Given the description of an element on the screen output the (x, y) to click on. 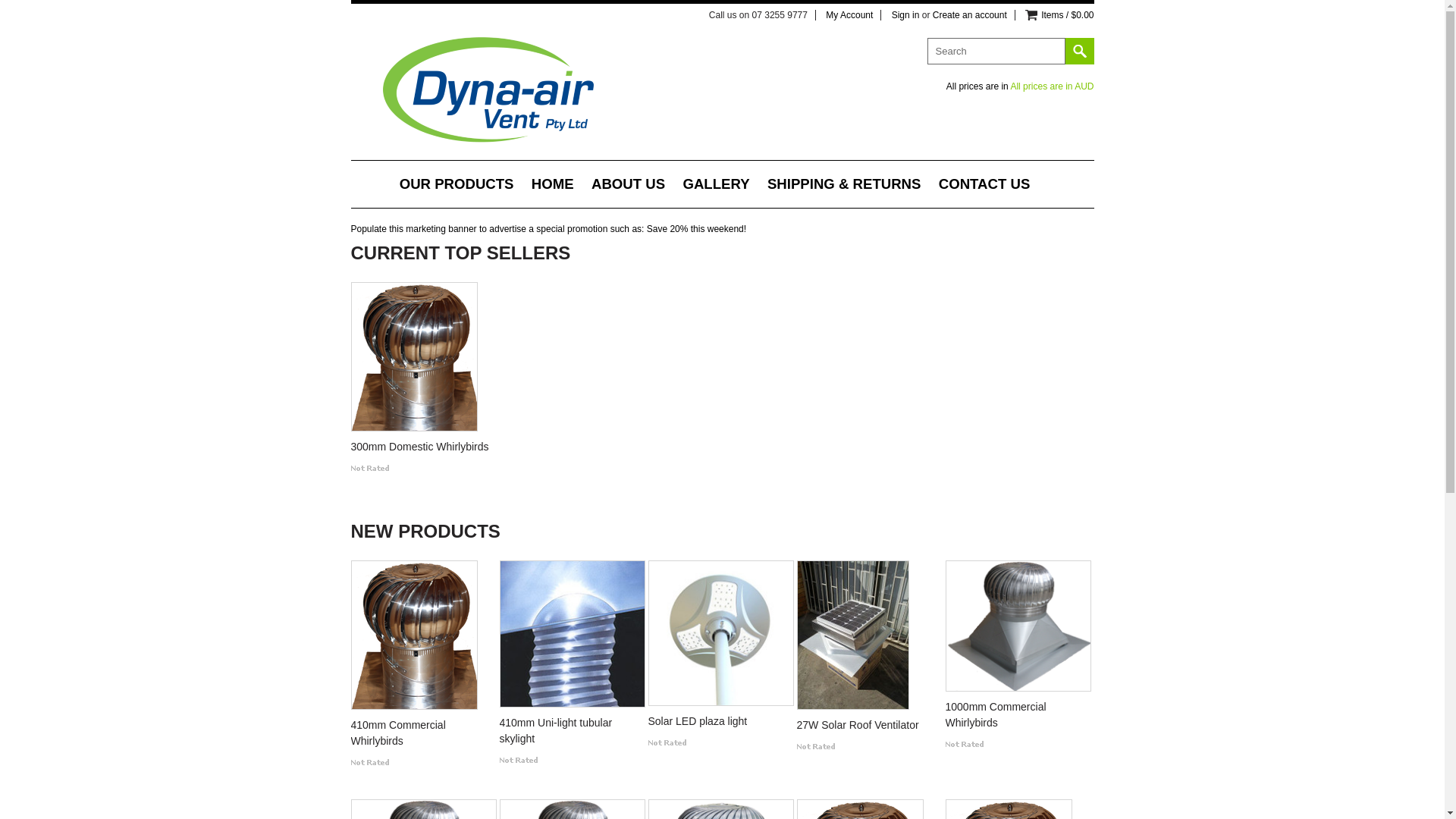
1000mm Commercial Whirlybirds Element type: text (1015, 716)
300mm Domestic Whirlybirds Element type: text (421, 448)
Sign in Element type: text (905, 14)
CONTACT US Element type: text (984, 185)
View Cart Element type: hover (1031, 14)
GALLERY Element type: text (715, 185)
Search Element type: hover (1078, 50)
ABOUT US Element type: text (628, 185)
410mm Uni-light tubular skylight Element type: text (569, 732)
OUR PRODUCTS Element type: text (456, 185)
Create an account Element type: text (969, 14)
HOME Element type: text (552, 185)
SHIPPING & RETURNS Element type: text (844, 185)
27W Solar Roof Ventilator Element type: text (867, 727)
Solar LED plaza light Element type: text (718, 723)
410mm Commercial Whirlybirds Element type: text (421, 735)
Items / $0.00 Element type: text (1067, 14)
My Account Element type: text (848, 14)
All prices are in AUD Element type: text (1051, 86)
